Given the description of an element on the screen output the (x, y) to click on. 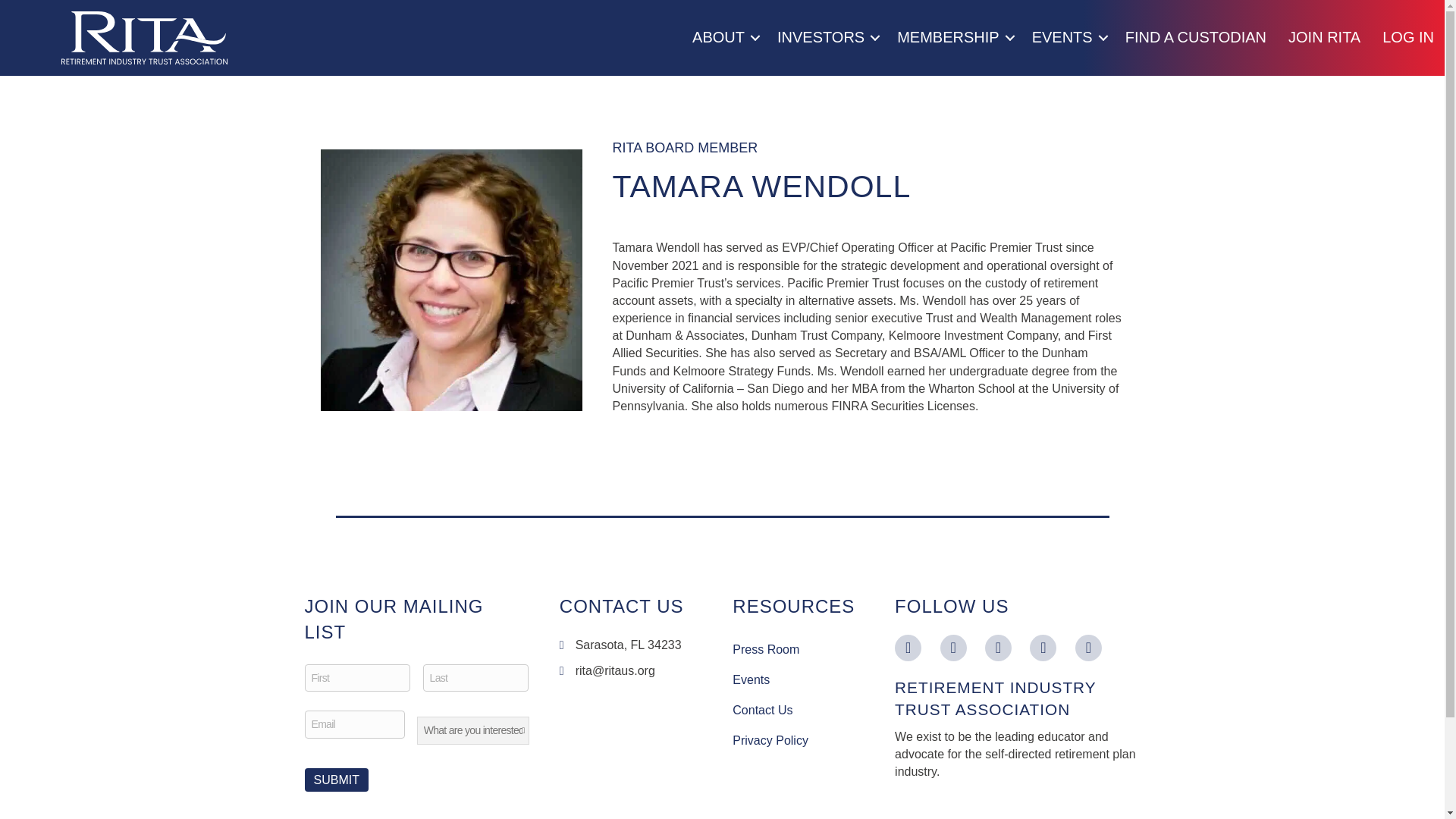
SUBMIT (336, 779)
Press Room (798, 649)
ABOUT (723, 37)
MEMBERSHIP (953, 37)
Privacy Policy (798, 740)
Contact Us (798, 709)
RITA-Logo-White (144, 37)
INVESTORS (826, 37)
tamara-wendoll (450, 280)
JOIN RITA (1324, 37)
Events (798, 679)
SUBMIT (336, 779)
FIND A CUSTODIAN (1195, 37)
EVENTS (1067, 37)
